Given the description of an element on the screen output the (x, y) to click on. 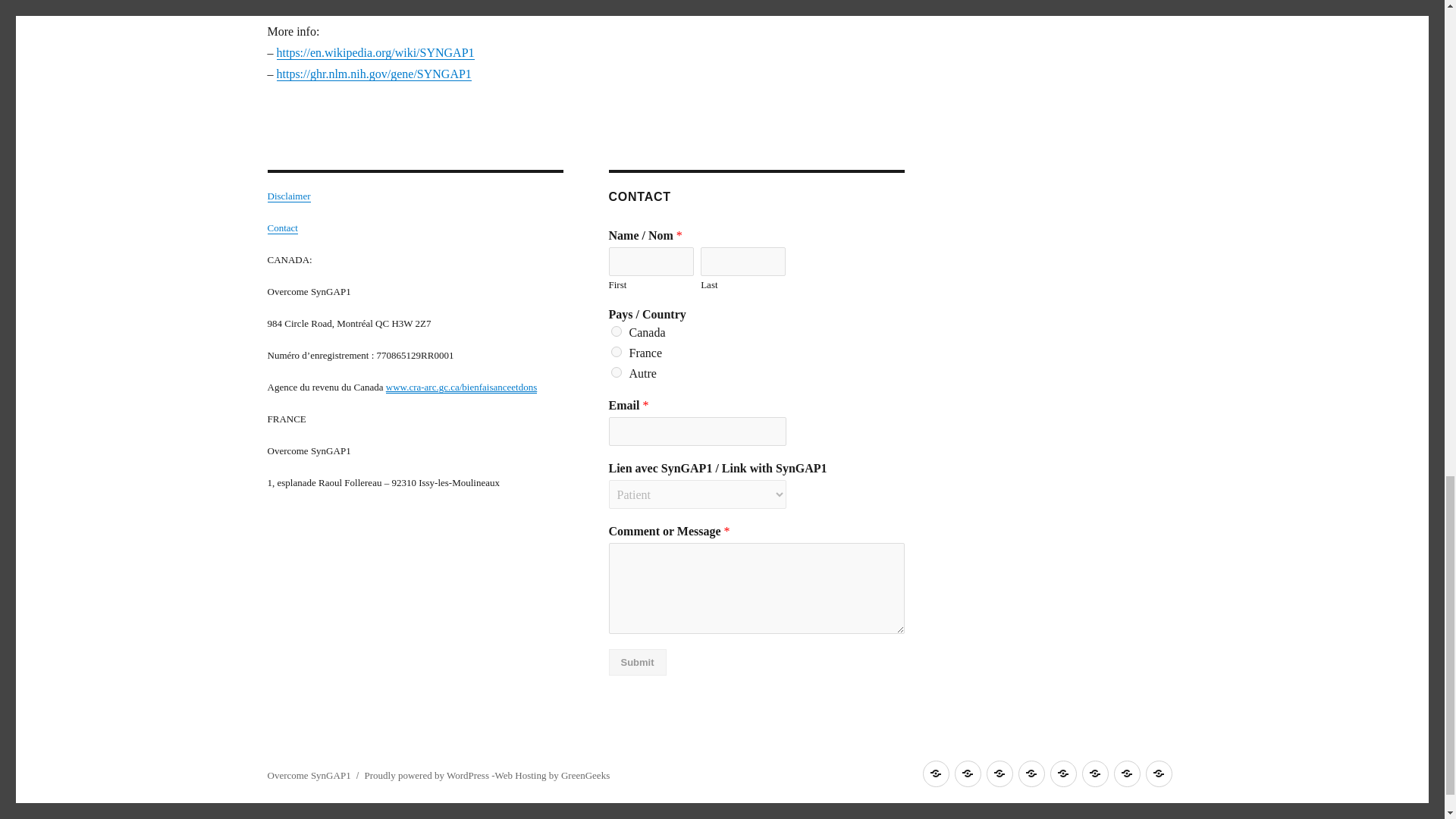
Contact (281, 227)
France (616, 351)
Submit (636, 662)
Disclaimer (288, 195)
Autre (616, 371)
Canada (616, 330)
